Given the description of an element on the screen output the (x, y) to click on. 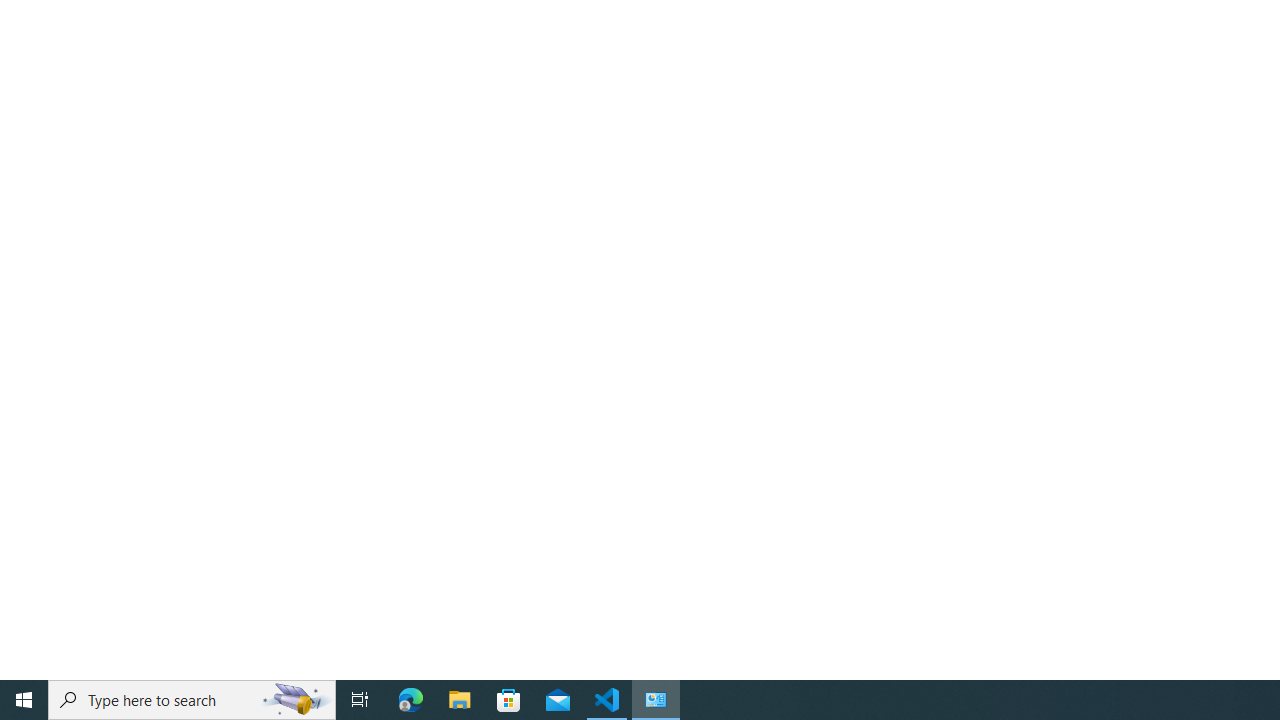
Control Panel - 1 running window (656, 699)
